Given the description of an element on the screen output the (x, y) to click on. 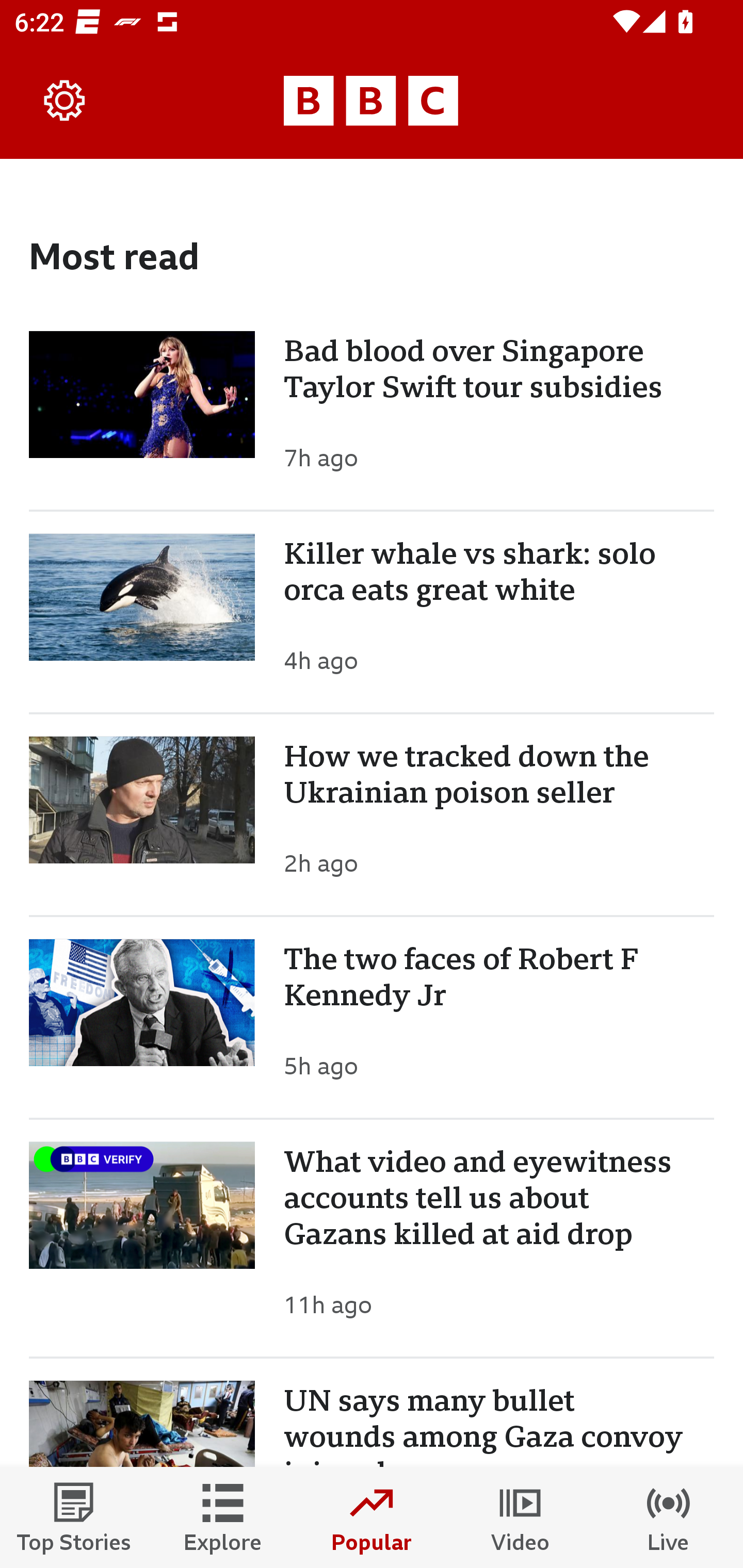
Settings (64, 100)
Top Stories (74, 1517)
Explore (222, 1517)
Video (519, 1517)
Live (668, 1517)
